Given the description of an element on the screen output the (x, y) to click on. 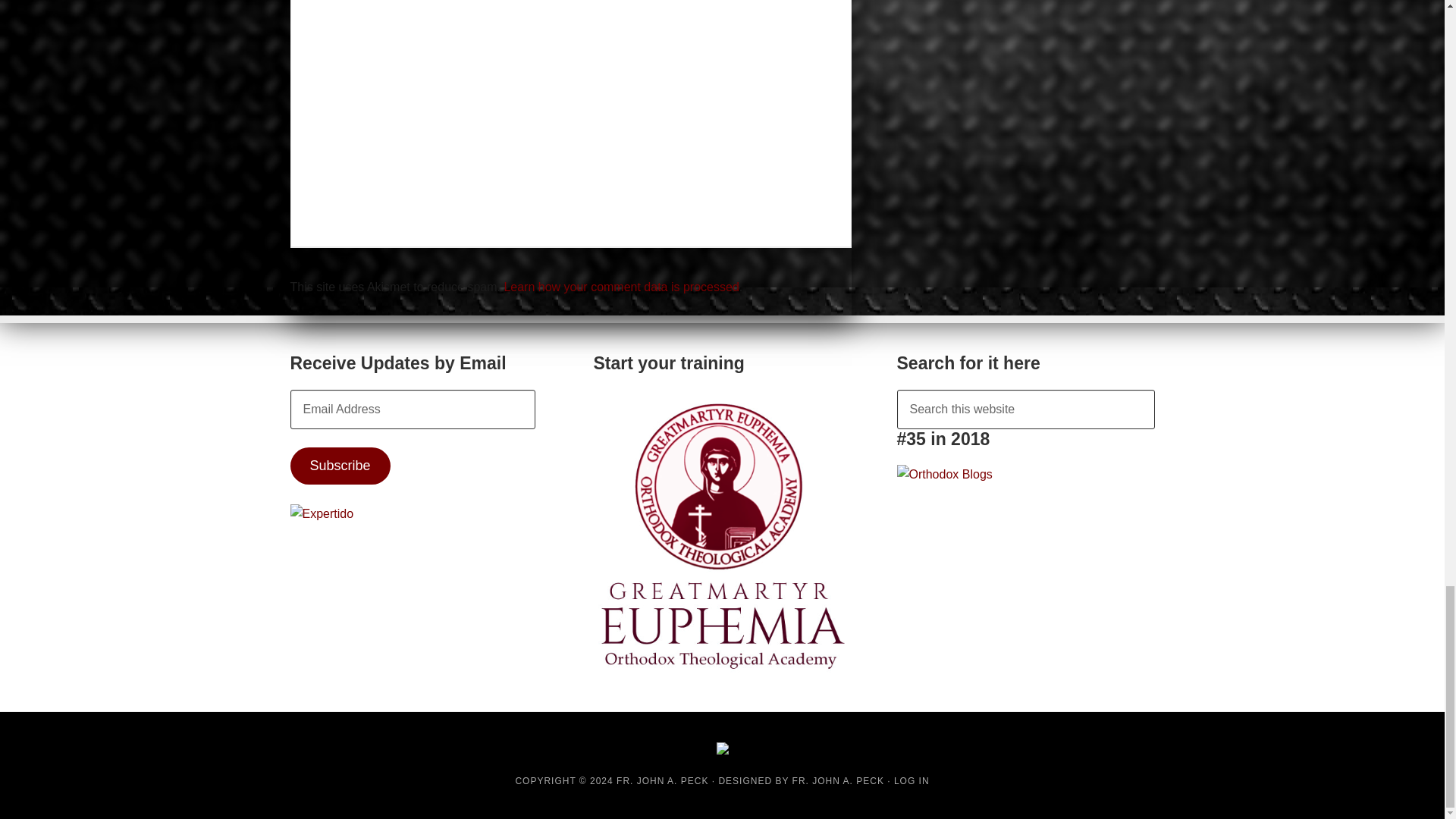
Comment Form (571, 114)
Expertido (321, 514)
Orthodox blogs (943, 473)
